Given the description of an element on the screen output the (x, y) to click on. 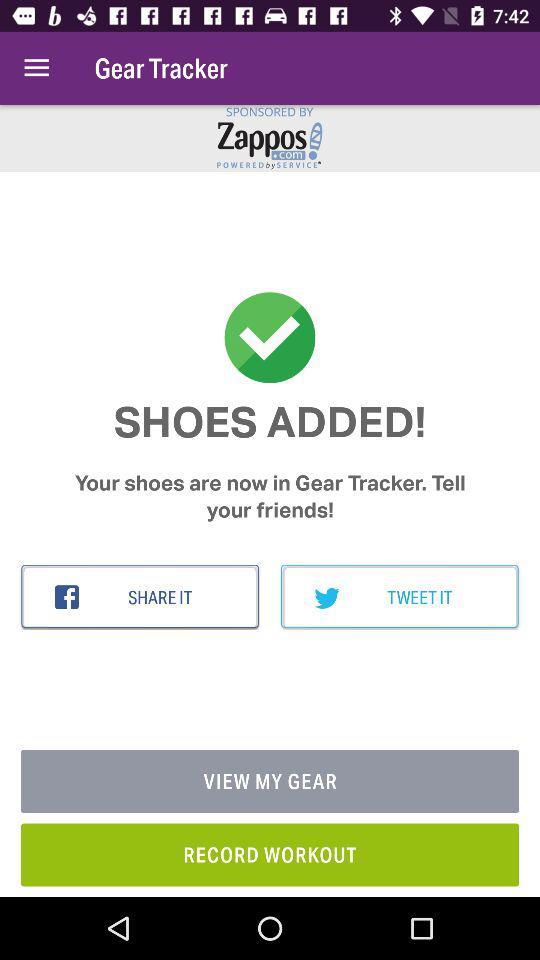
press item above the shoes added! item (36, 68)
